Given the description of an element on the screen output the (x, y) to click on. 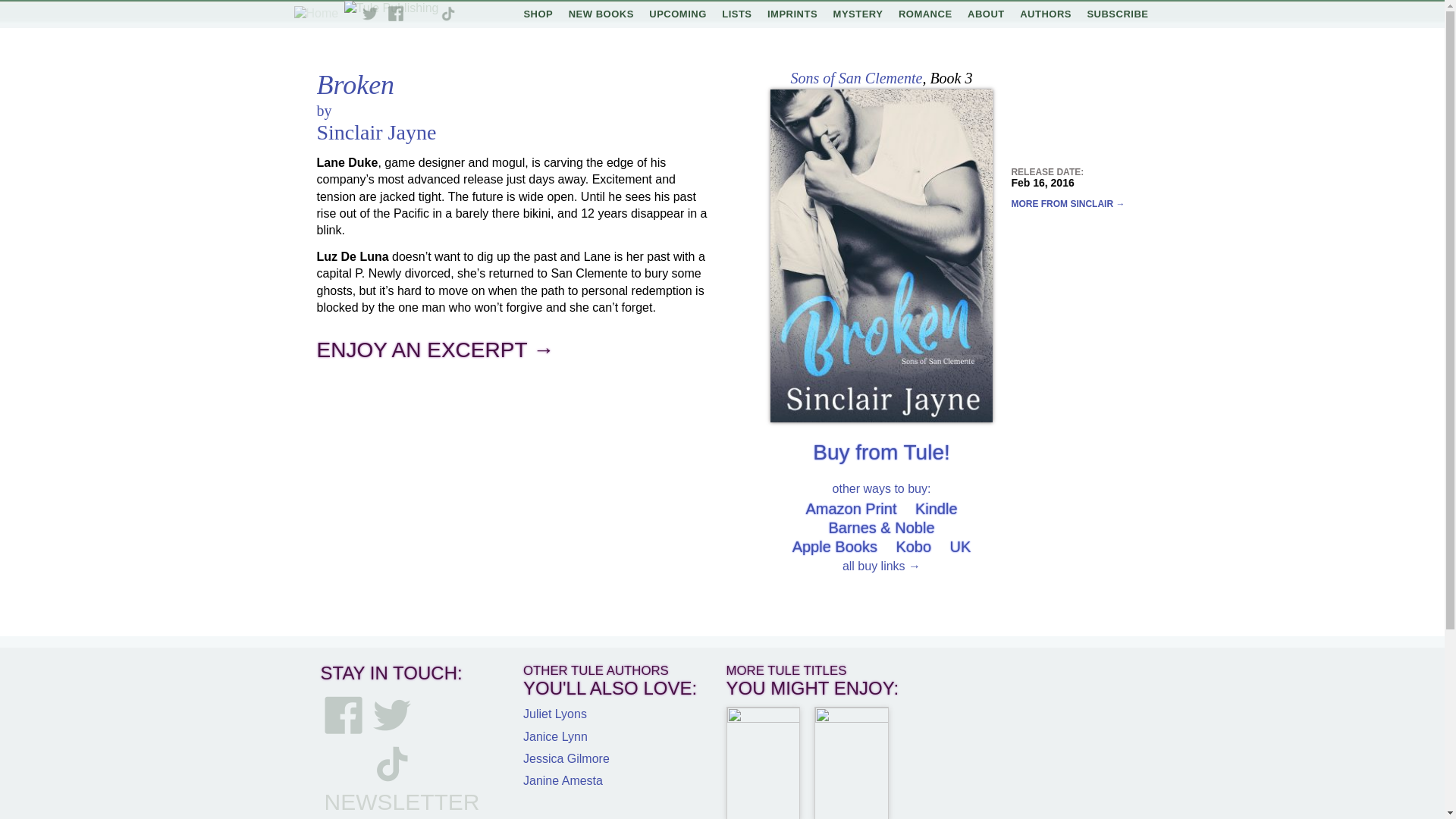
Sons of San Clemente (855, 77)
UK (960, 546)
AUTHORS (1045, 13)
Kindle (936, 508)
Amazon Print (850, 508)
UPCOMING (678, 13)
Facebook (395, 13)
Instagram (421, 13)
NEWSLETTER (402, 802)
TikTok (448, 13)
NEW BOOKS (601, 13)
Apple Books (834, 546)
Buy from Tule! (881, 452)
Sinclair Jayne (376, 132)
LISTS (736, 13)
